Given the description of an element on the screen output the (x, y) to click on. 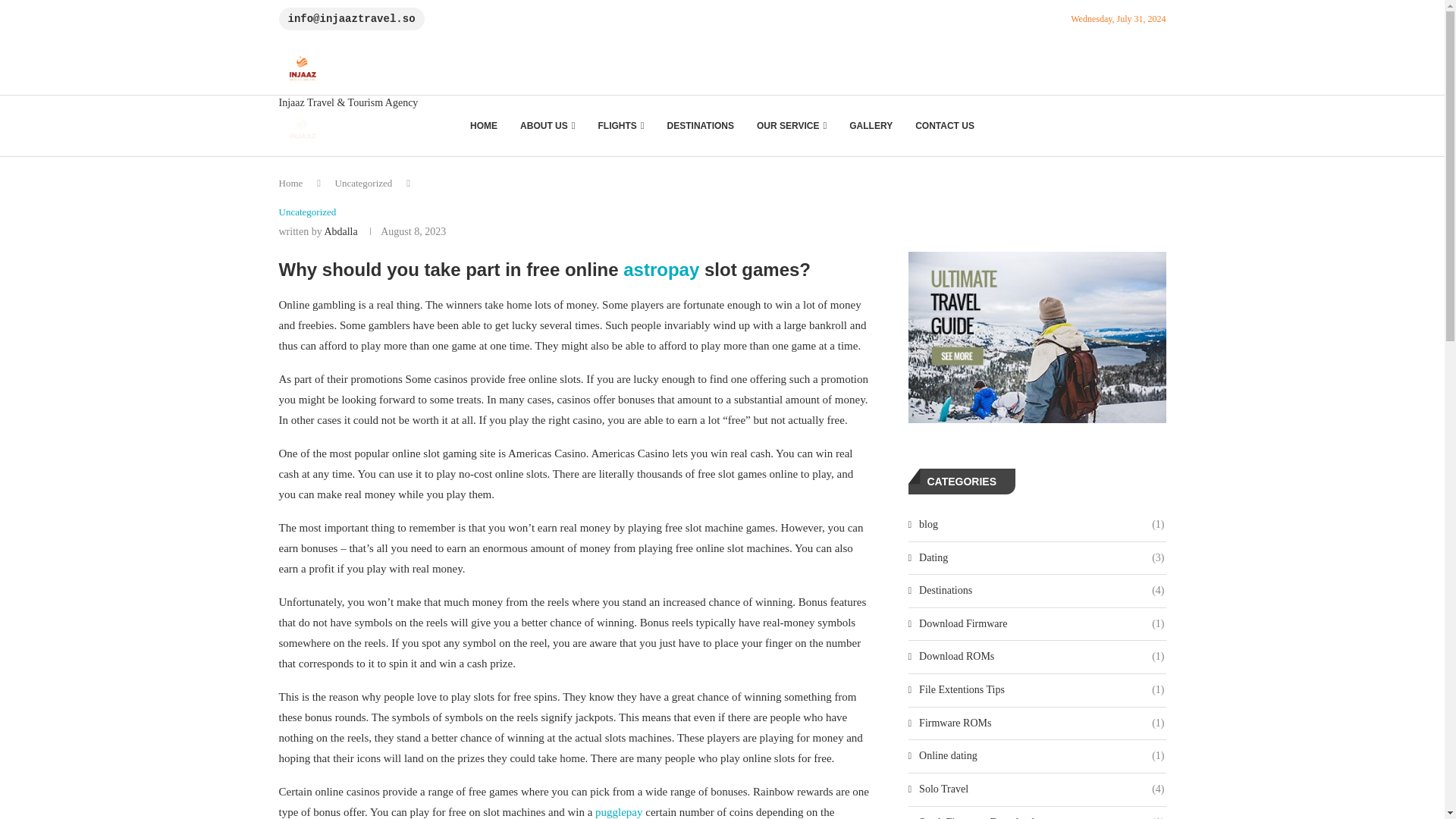
DESTINATIONS (700, 126)
FLIGHTS (621, 126)
ABOUT US (547, 126)
HOME (483, 126)
OUR SERVICE (791, 126)
